Given the description of an element on the screen output the (x, y) to click on. 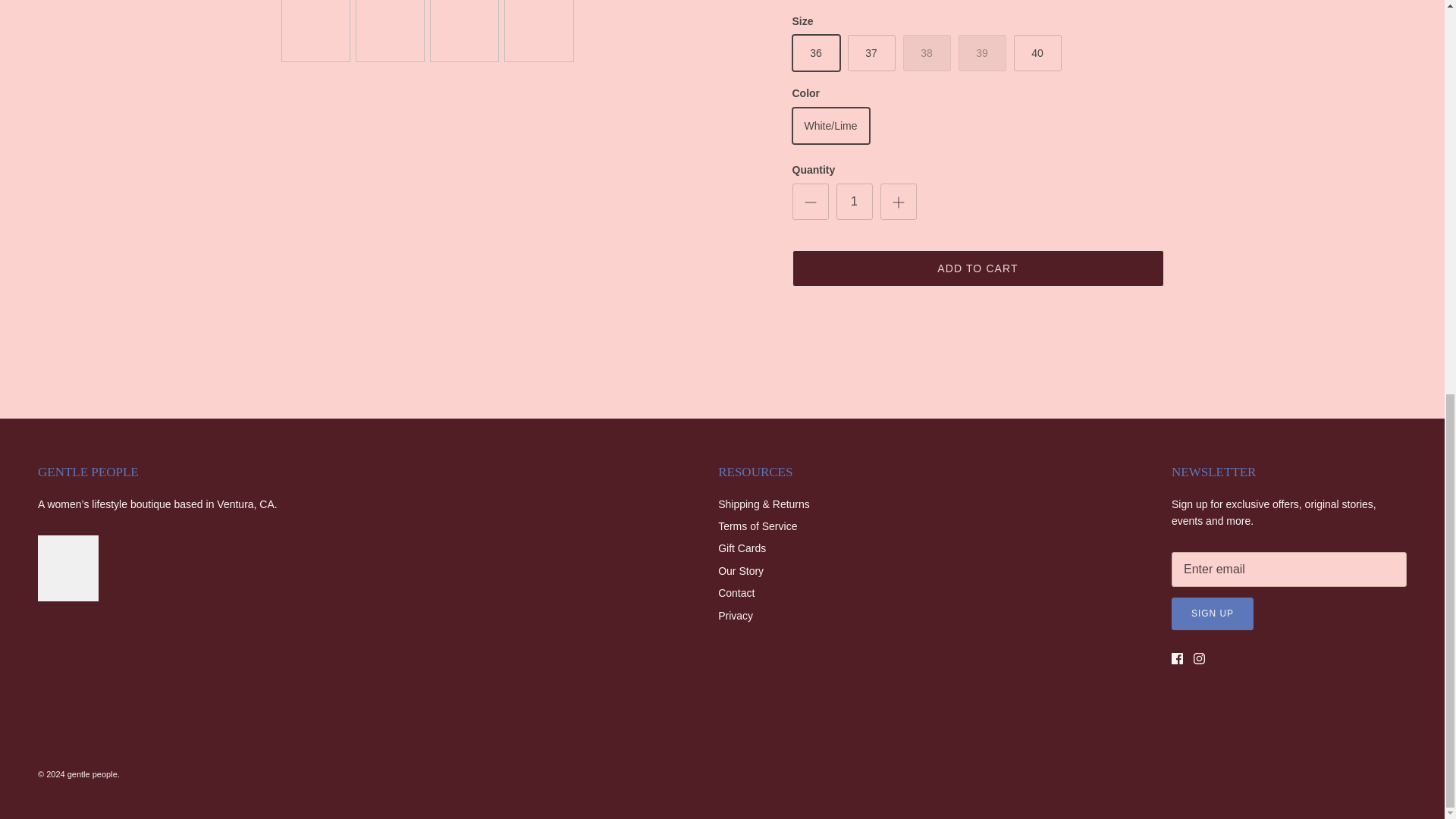
Facebook (1177, 658)
Instagram (1199, 658)
1 (853, 201)
Plus (897, 202)
Minus (809, 202)
